Given the description of an element on the screen output the (x, y) to click on. 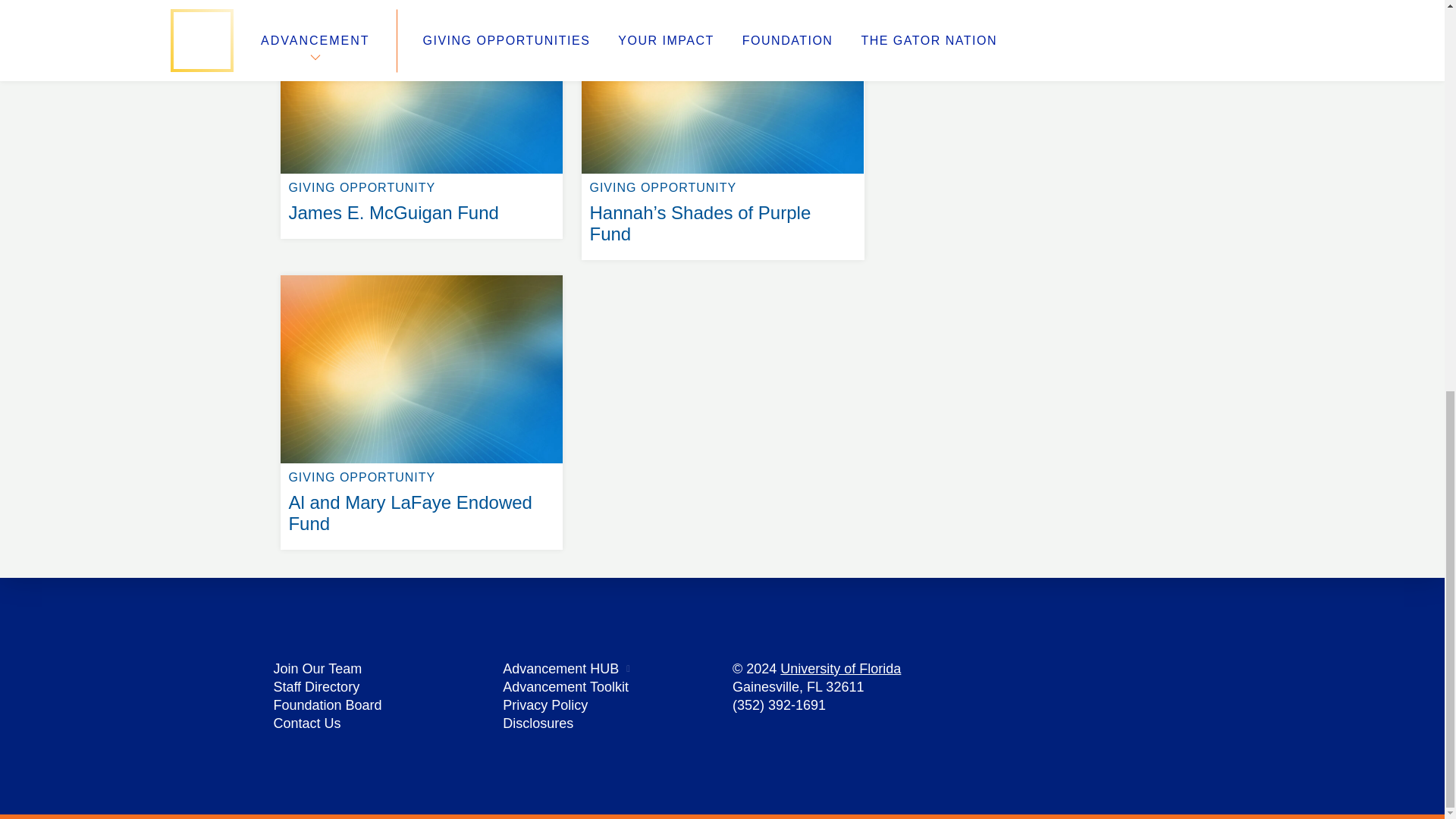
Join Our Team (317, 668)
Privacy Policy (545, 704)
University of Florida (421, 274)
Foundation Board (840, 668)
Advancement HUB (327, 704)
Advancement Toolkit (560, 668)
Contact Us (565, 686)
Staff Directory (306, 723)
Disclosures (316, 686)
